Given the description of an element on the screen output the (x, y) to click on. 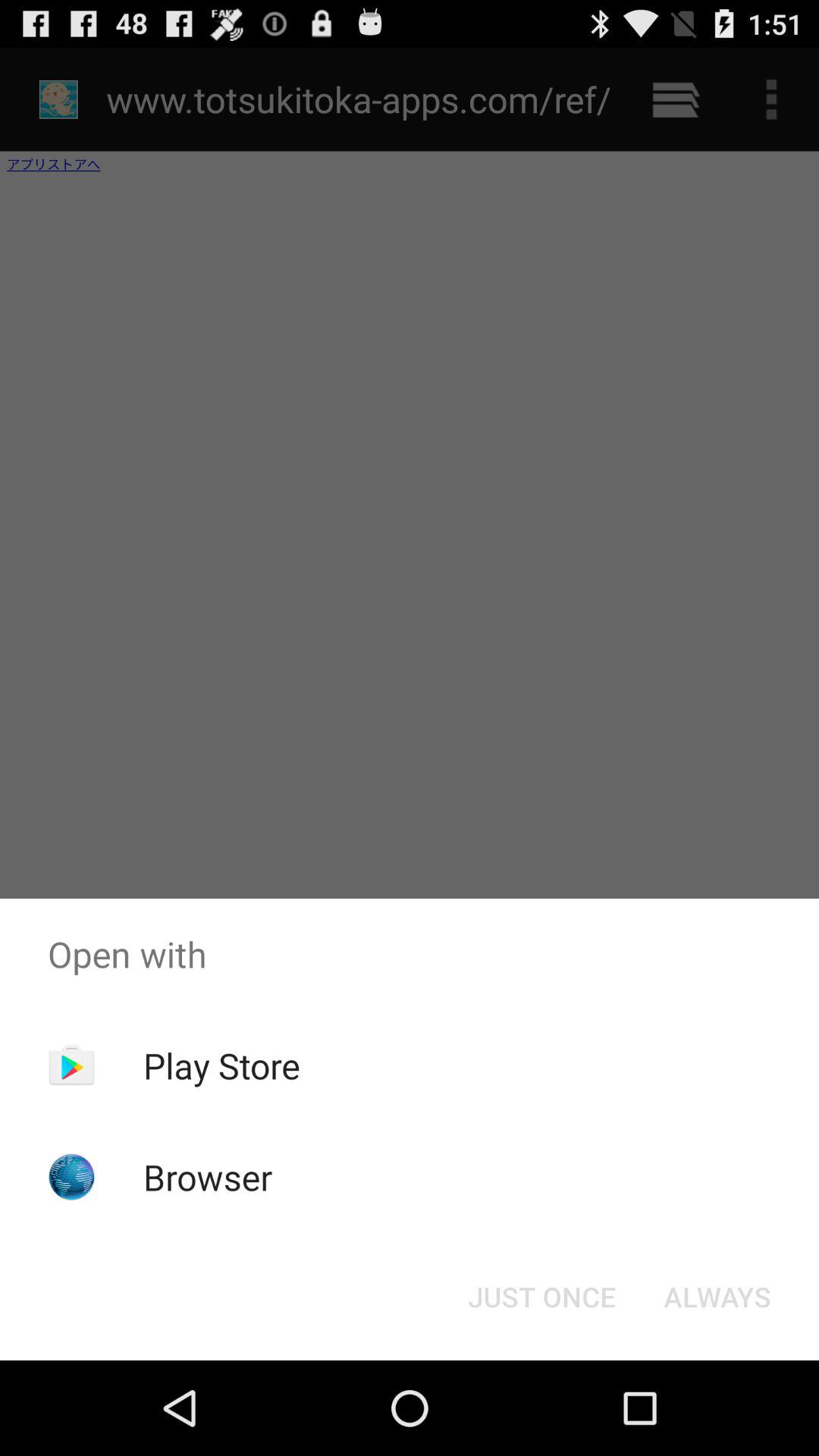
click browser (207, 1176)
